Given the description of an element on the screen output the (x, y) to click on. 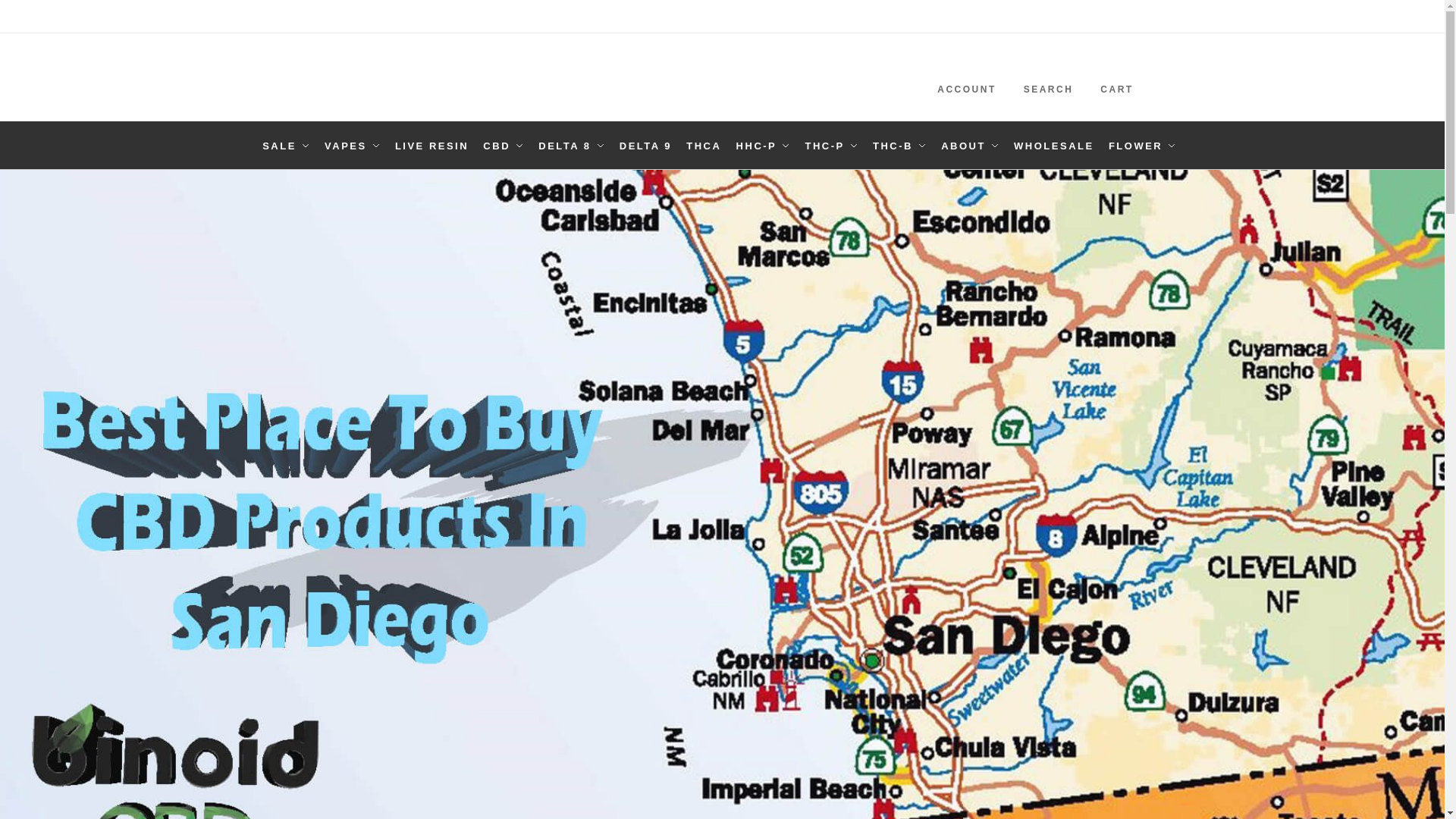
SALE (288, 145)
CBD (503, 145)
SEARCH (1047, 76)
CART (1117, 76)
ACCOUNT (967, 76)
VAPES (351, 145)
LIVE RESIN (432, 145)
